Given the description of an element on the screen output the (x, y) to click on. 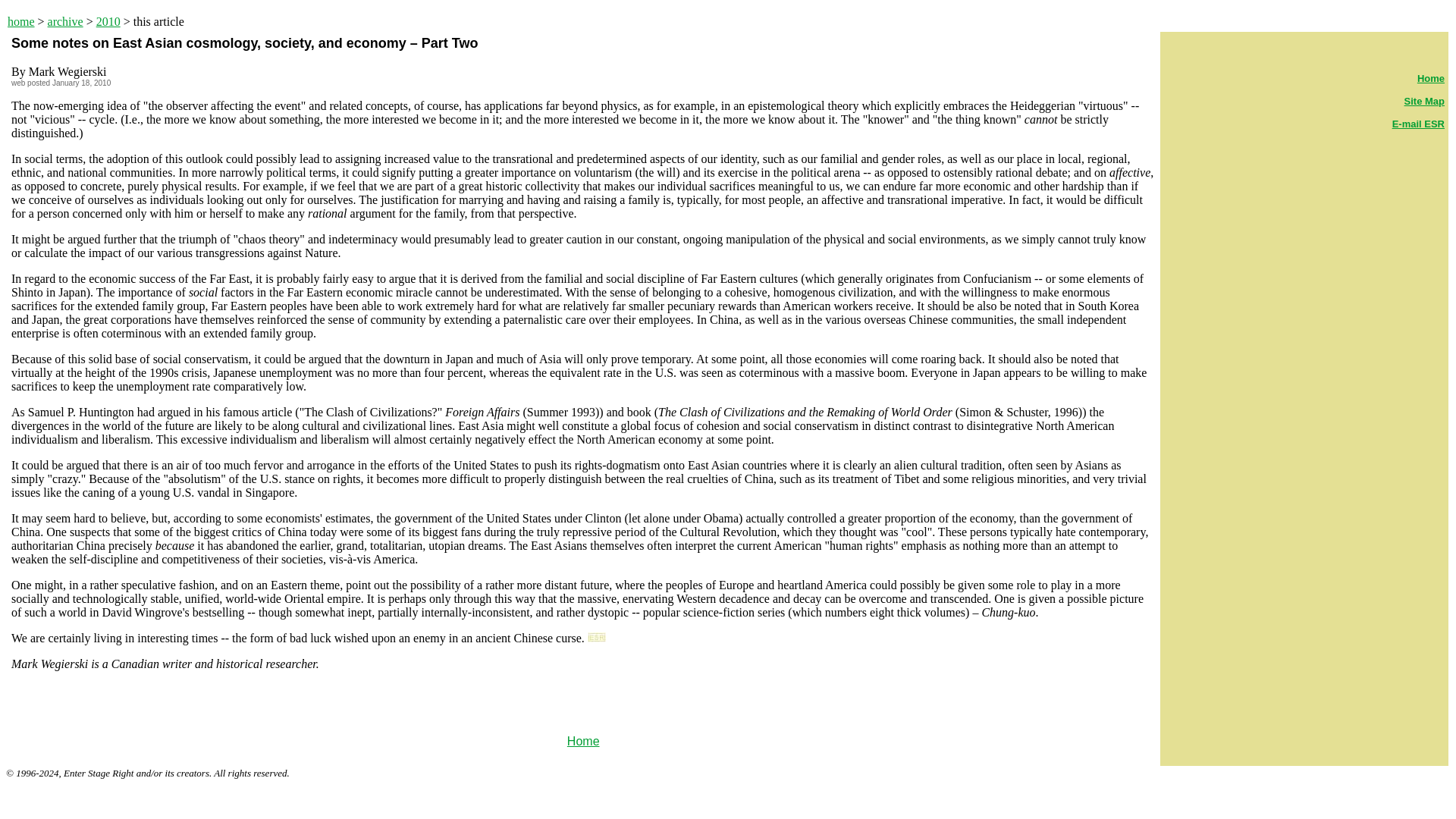
2010 (108, 21)
home (20, 21)
Home (1430, 78)
Home (583, 740)
archive (65, 21)
E-mail ESR (1417, 123)
Site Map (1424, 101)
